Given the description of an element on the screen output the (x, y) to click on. 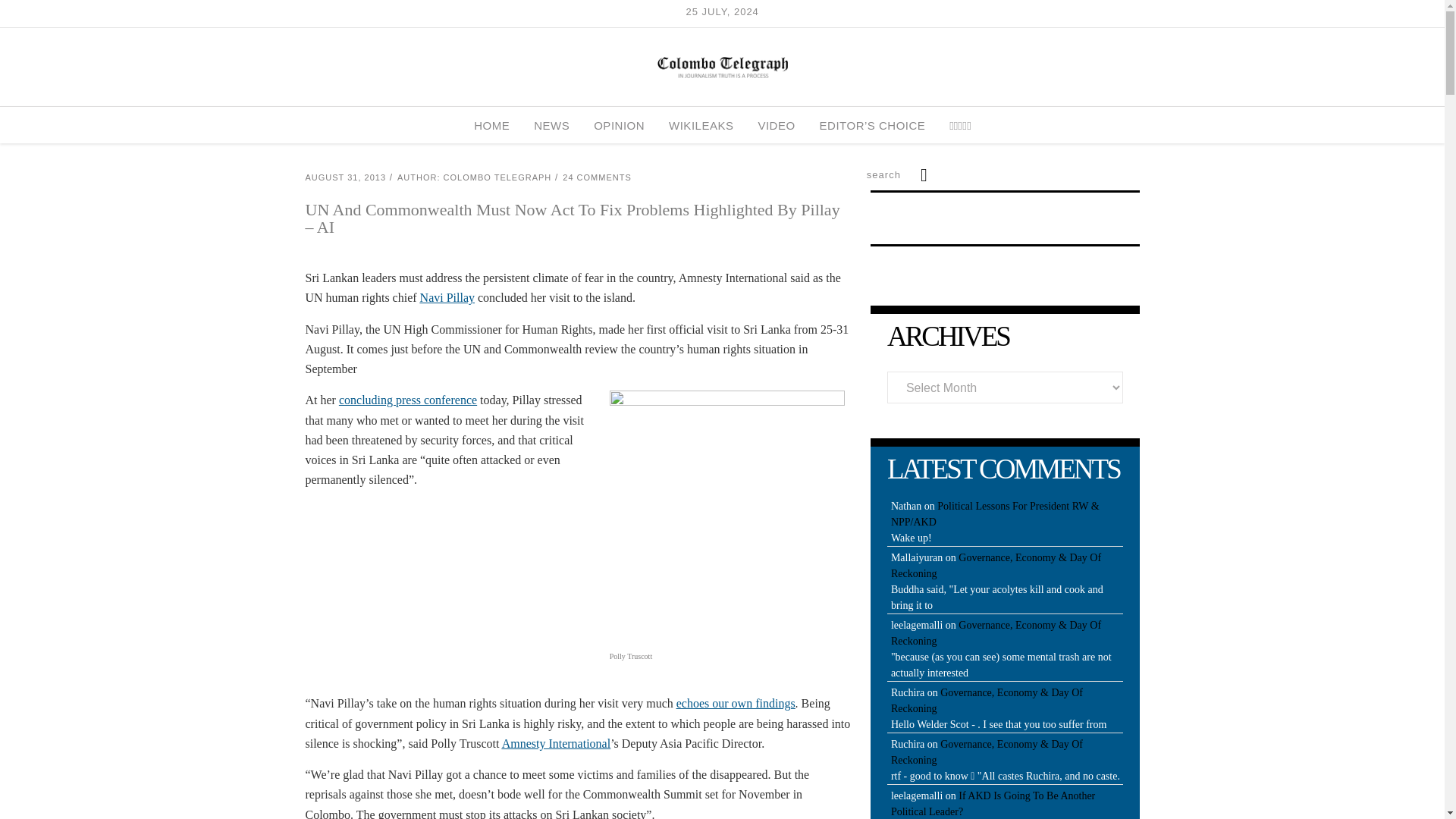
24 COMMENTS (596, 176)
HOME (491, 125)
NEWS (550, 125)
AUTHOR: COLOMBO TELEGRAPH (474, 176)
OPINION (618, 125)
AUGUST 31, 2013 (344, 176)
Amnesty International (556, 743)
Navi Pillay (447, 297)
concluding press conference (408, 399)
Polly Truscott (727, 514)
echoes our own findings (735, 703)
VIDEO (775, 125)
WIKILEAKS (700, 125)
